Given the description of an element on the screen output the (x, y) to click on. 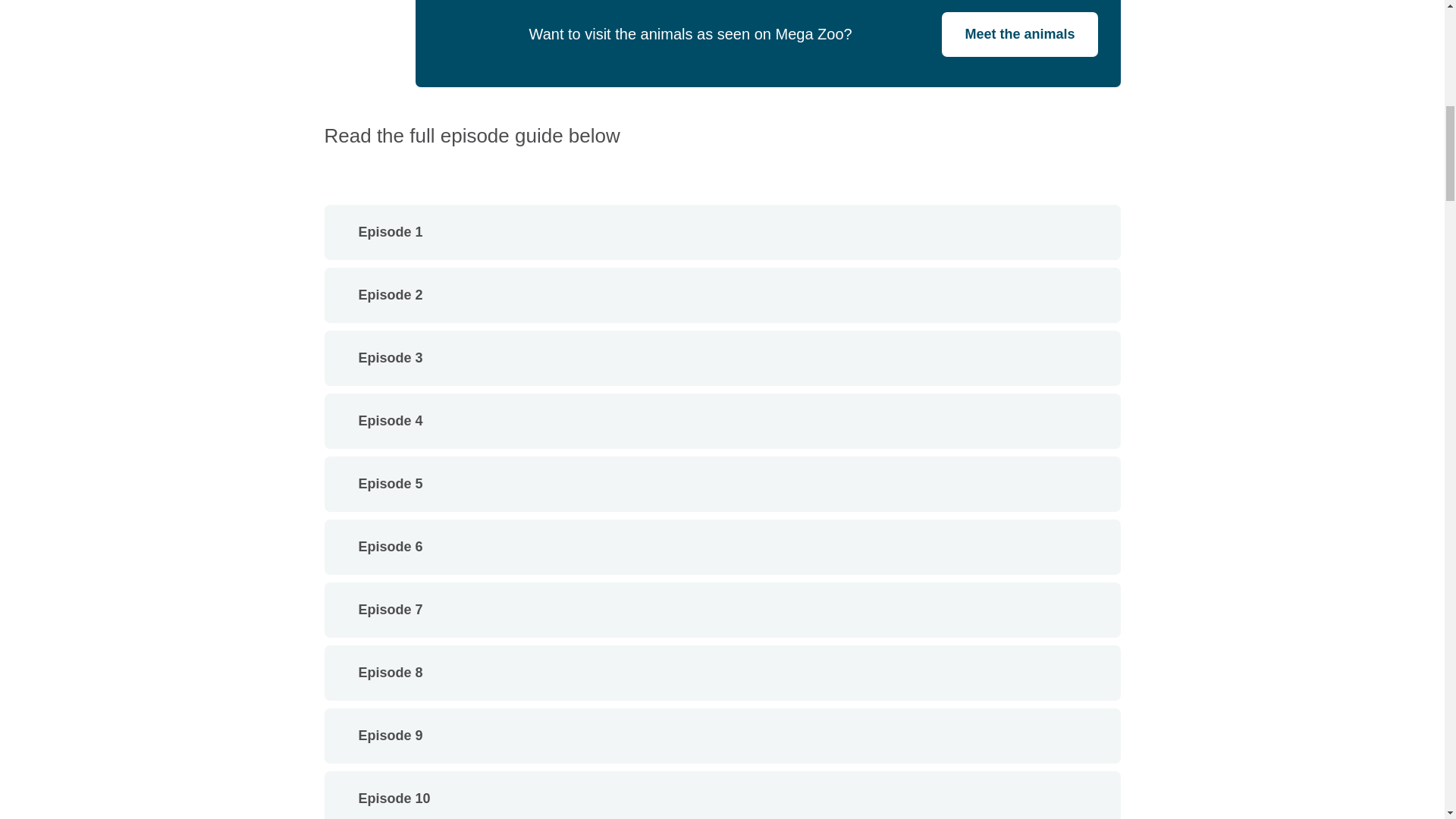
Episode 8 (722, 673)
Episode 5 (722, 483)
Episode 7 (722, 609)
Episode 4 (722, 420)
Episode 6 (722, 546)
Episode 10 (722, 796)
Episode 2 (722, 295)
Episode 3 (722, 358)
Episode 1 (722, 232)
Meet the animals (1019, 34)
